Given the description of an element on the screen output the (x, y) to click on. 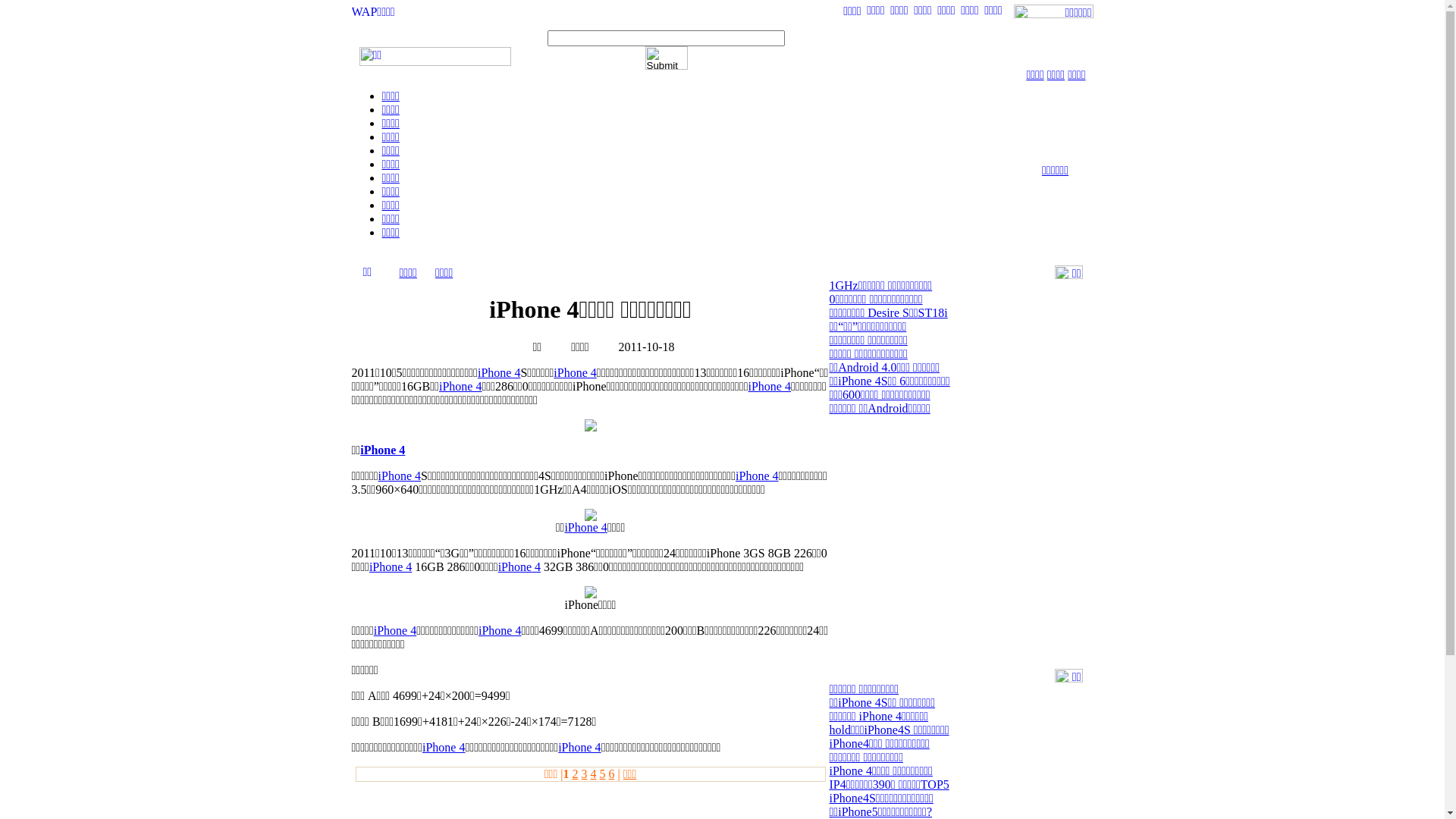
iPhone 4 Element type: text (394, 630)
iPhone 4 Element type: text (498, 372)
iPhone 4 Element type: text (382, 449)
5 Element type: text (602, 773)
iPhone 4 Element type: text (390, 566)
iPhone 4 Element type: text (769, 385)
iPhone 4 Element type: text (519, 566)
iPhone 4 Element type: text (399, 475)
iPhone 4 Element type: text (460, 385)
6 Element type: text (611, 773)
3 Element type: text (583, 773)
4 Element type: text (592, 773)
iPhone 4 Element type: text (499, 630)
iPhone 4 Element type: text (756, 475)
iPhone 4 Element type: text (443, 746)
iPhone 4 Element type: text (579, 746)
iPhone 4 Element type: text (585, 526)
2 Element type: text (574, 773)
iPhone 4 Element type: text (574, 372)
